Given the description of an element on the screen output the (x, y) to click on. 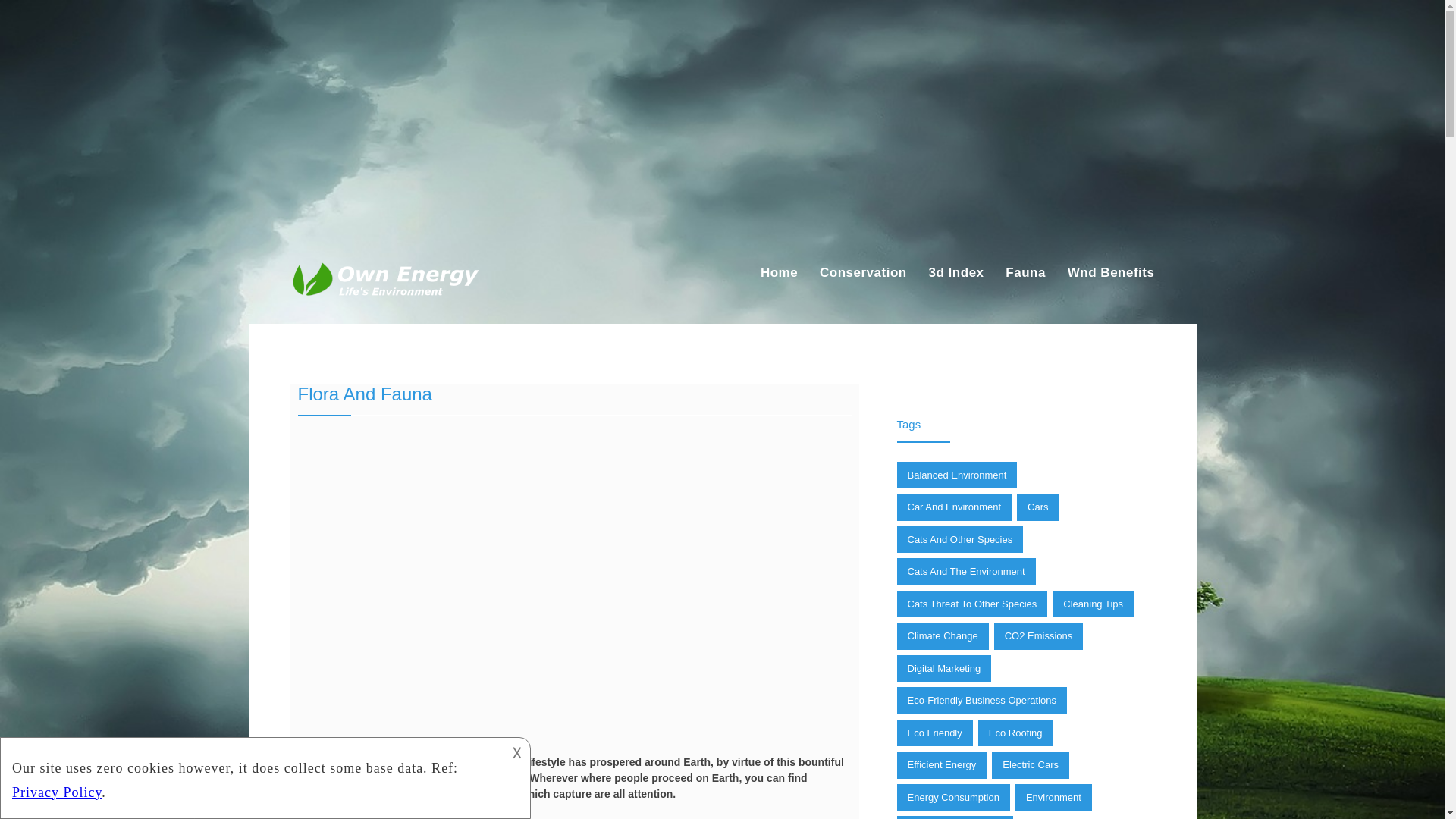
Electric Cars (1029, 764)
Conservation (863, 272)
3d Index (956, 272)
Digital Marketing (943, 668)
Balanced Environment (956, 474)
Car And Environment (953, 506)
Eco Roofing (1015, 732)
Cats And Other Species (959, 539)
Own Energy (330, 306)
